Given the description of an element on the screen output the (x, y) to click on. 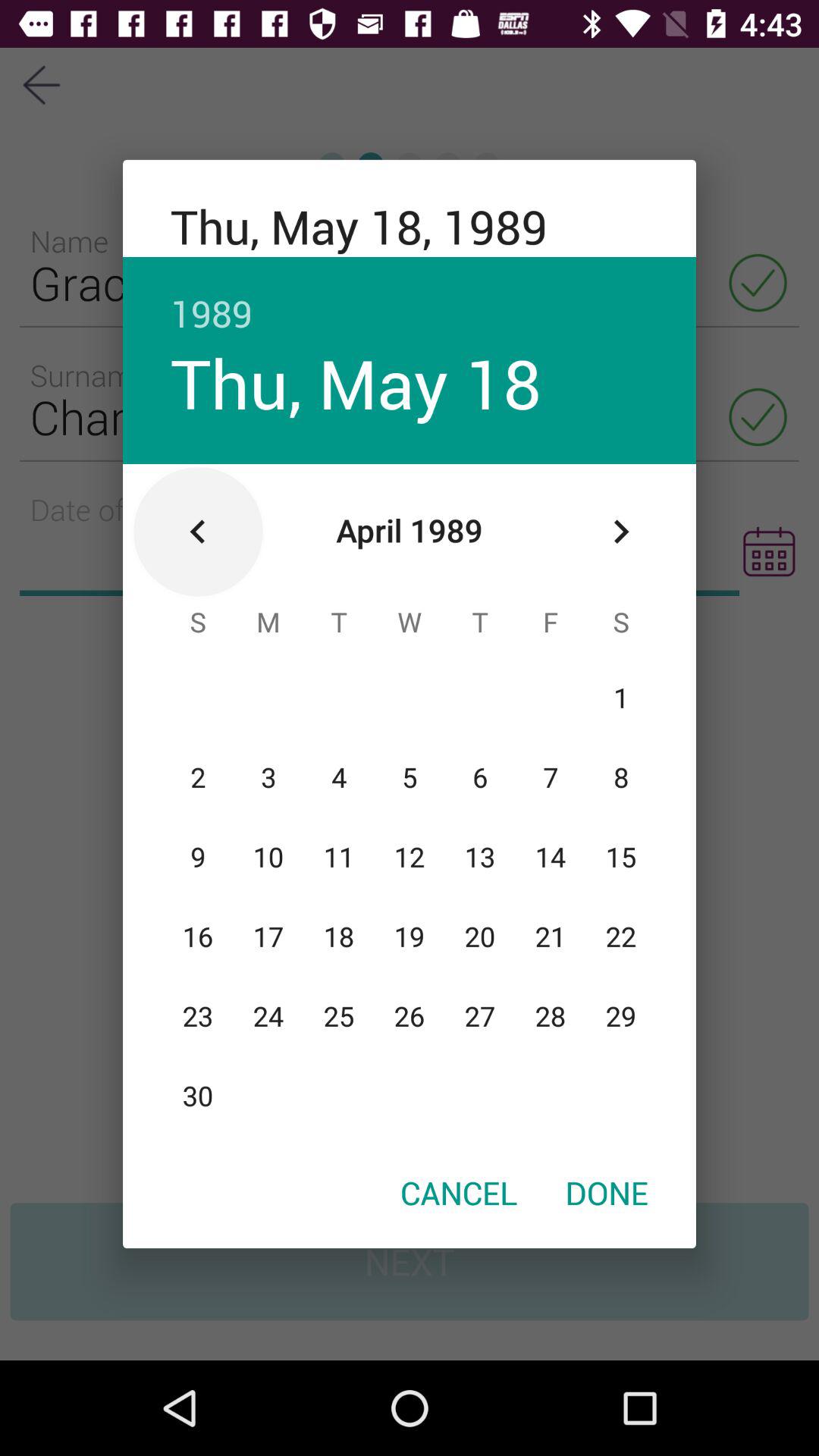
turn off the item above the done (620, 531)
